Given the description of an element on the screen output the (x, y) to click on. 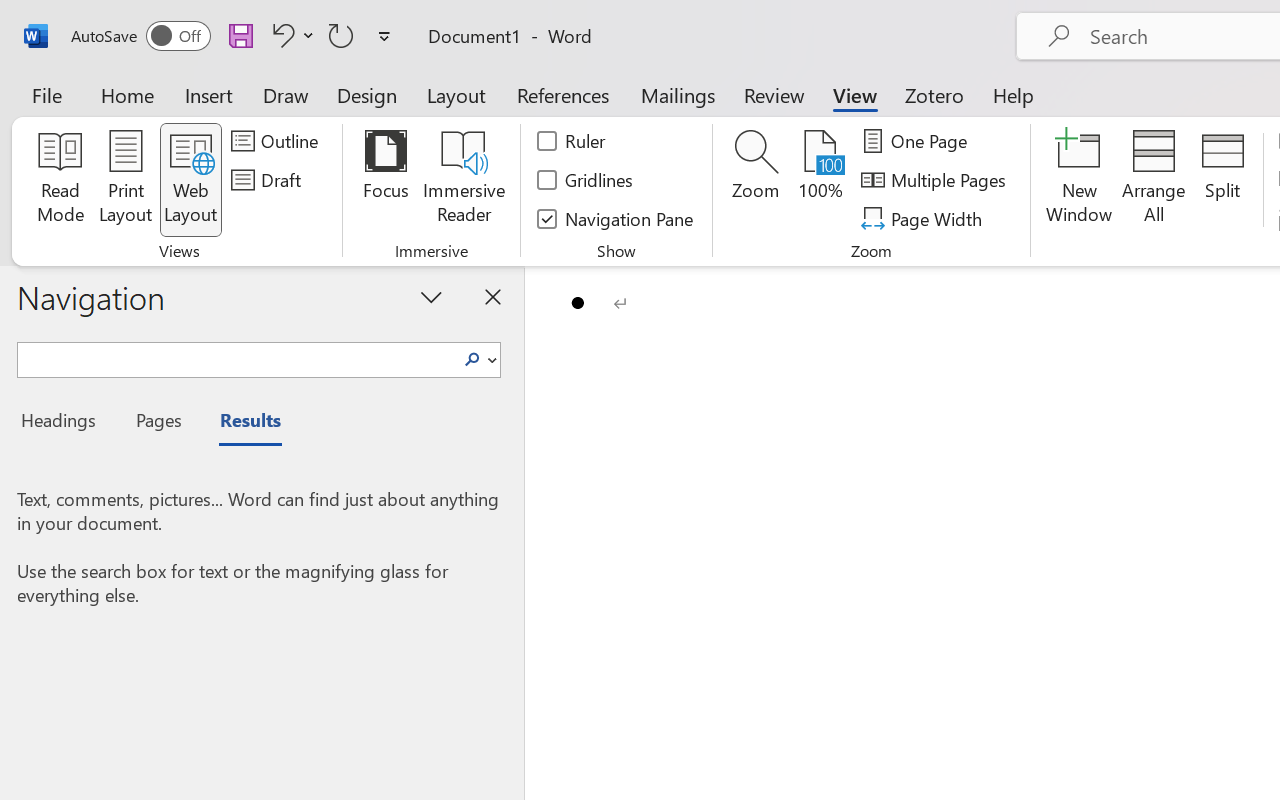
New Window (1079, 179)
Pages (156, 423)
Outline (278, 141)
Repeat Bullet Default (341, 35)
Ruler (572, 141)
Immersive Reader (464, 179)
